Given the description of an element on the screen output the (x, y) to click on. 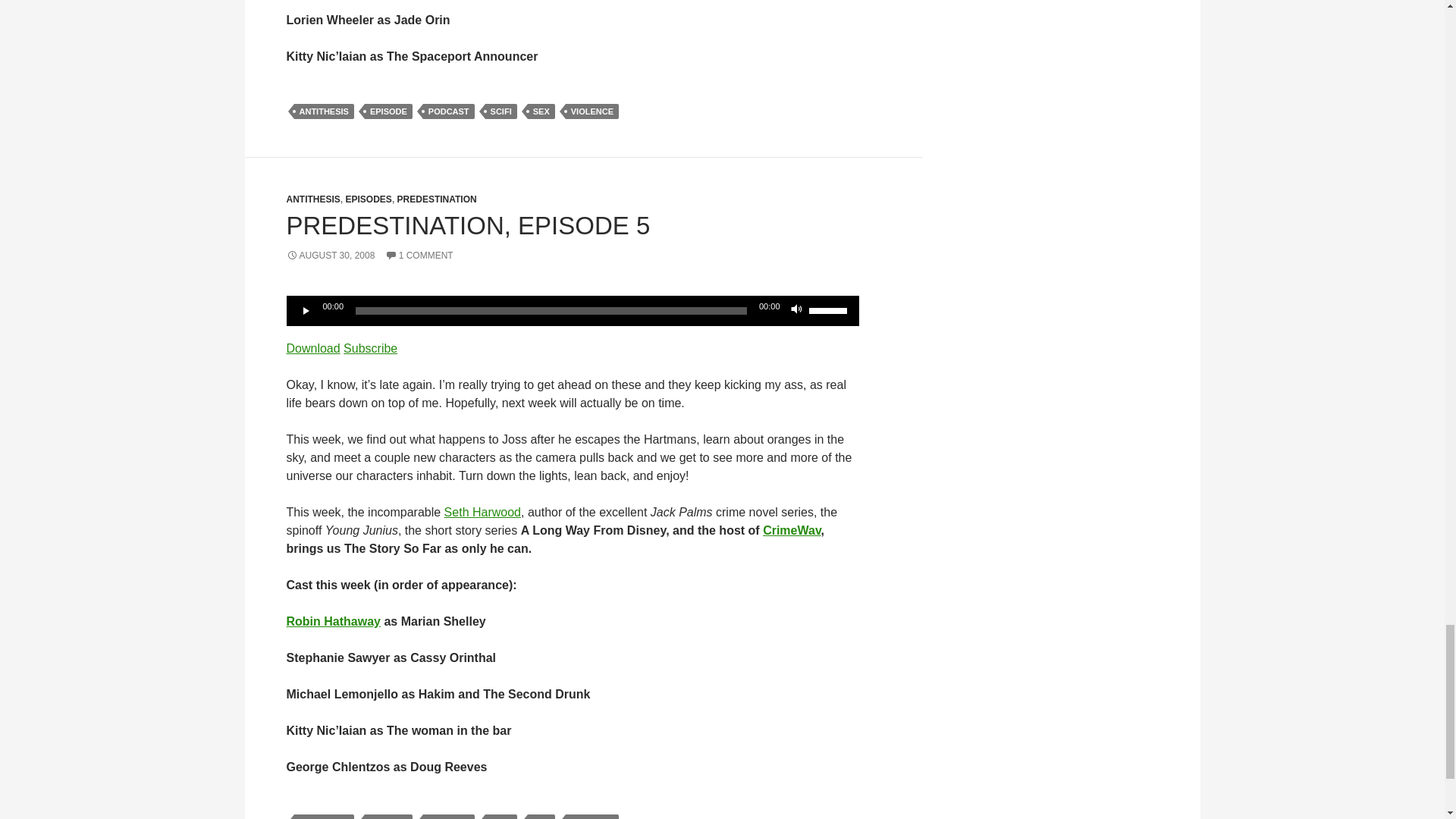
Mute (796, 310)
Play (306, 310)
